Given the description of an element on the screen output the (x, y) to click on. 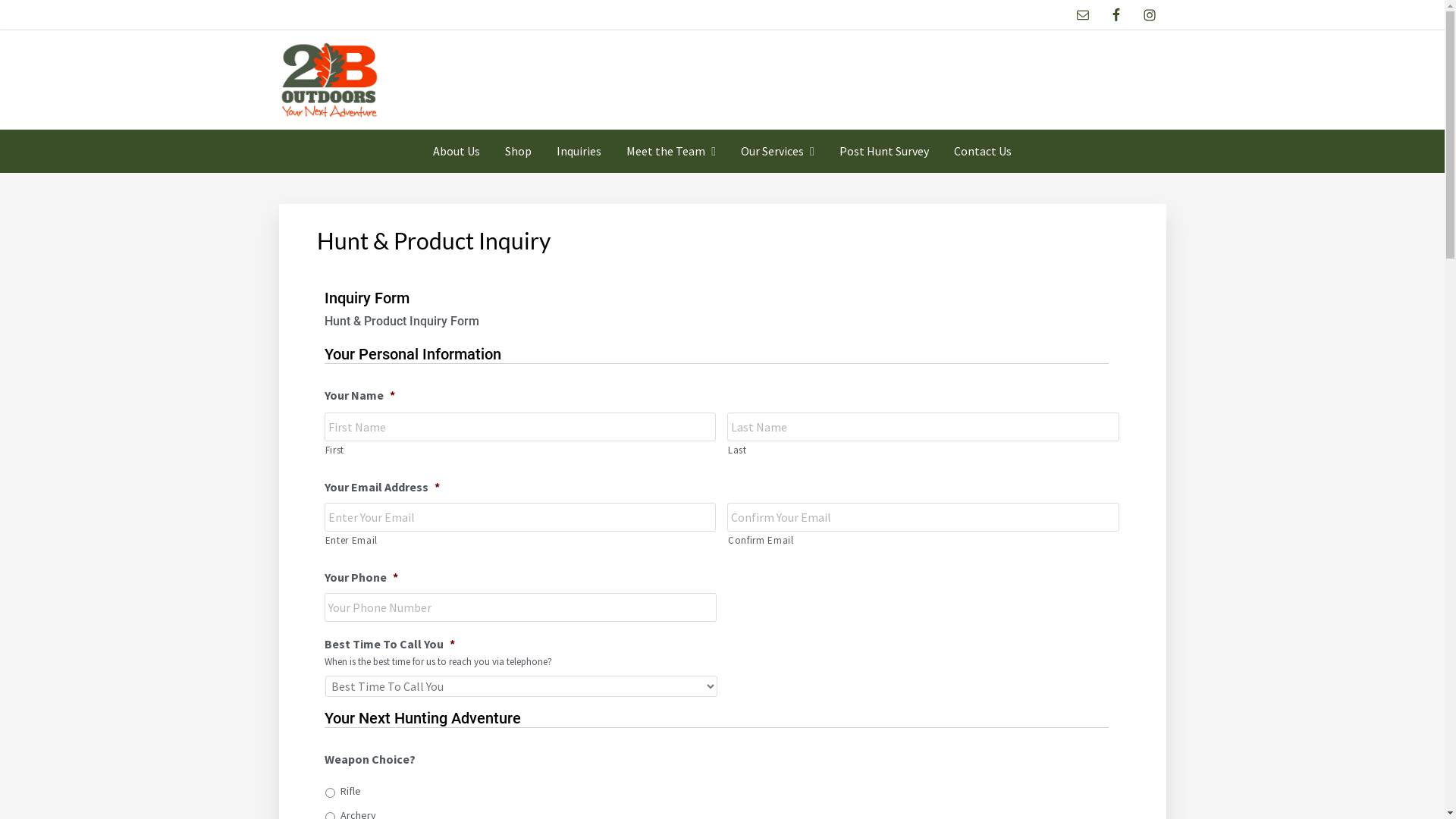
Contact Us Element type: text (982, 150)
Inquiries Element type: text (578, 150)
2BOUTDOORS, INC. Element type: text (403, 135)
Shop Element type: text (517, 150)
About Us Element type: text (456, 150)
Skip to main content Element type: text (0, 0)
Our Services Element type: text (777, 150)
Post Hunt Survey Element type: text (884, 150)
Meet the Team Element type: text (671, 150)
